Given the description of an element on the screen output the (x, y) to click on. 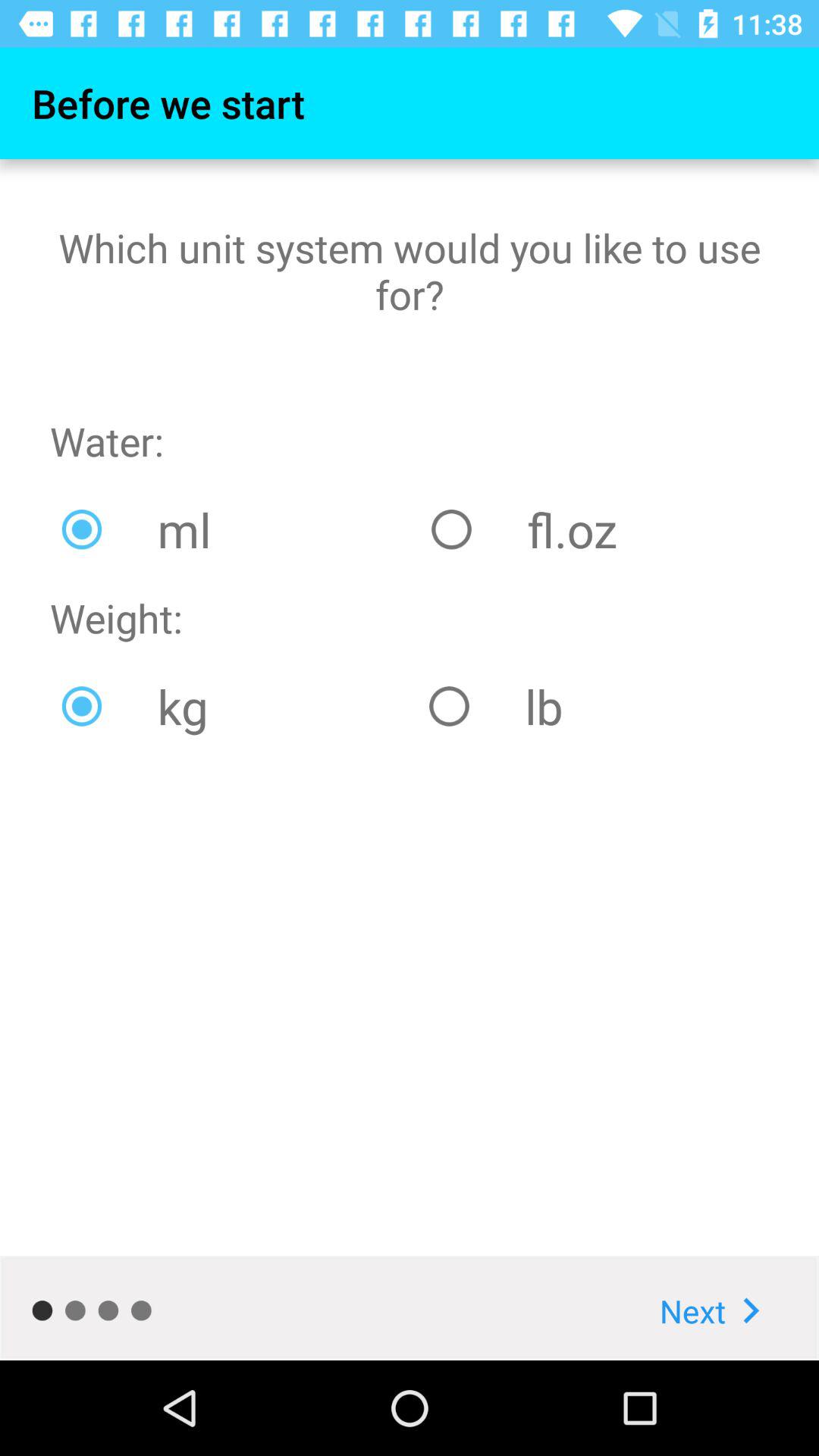
open the icon below the water: item (234, 529)
